Given the description of an element on the screen output the (x, y) to click on. 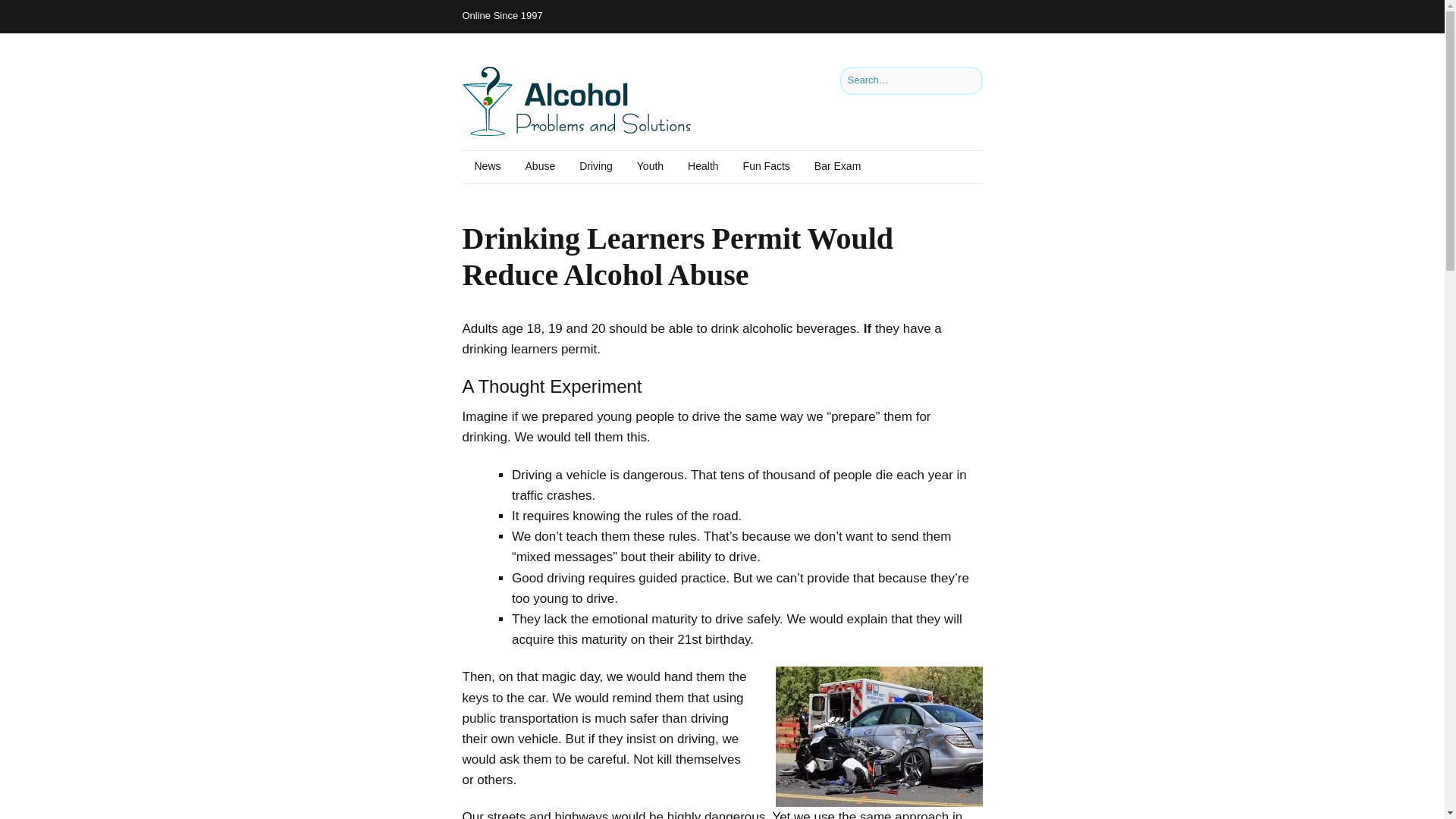
Search (29, 15)
Bar Exam (837, 166)
Fun Facts (766, 166)
Youth (649, 166)
Health (702, 166)
News (488, 166)
Abuse (540, 166)
Driving (595, 166)
Press Enter to submit your search (911, 80)
